Given the description of an element on the screen output the (x, y) to click on. 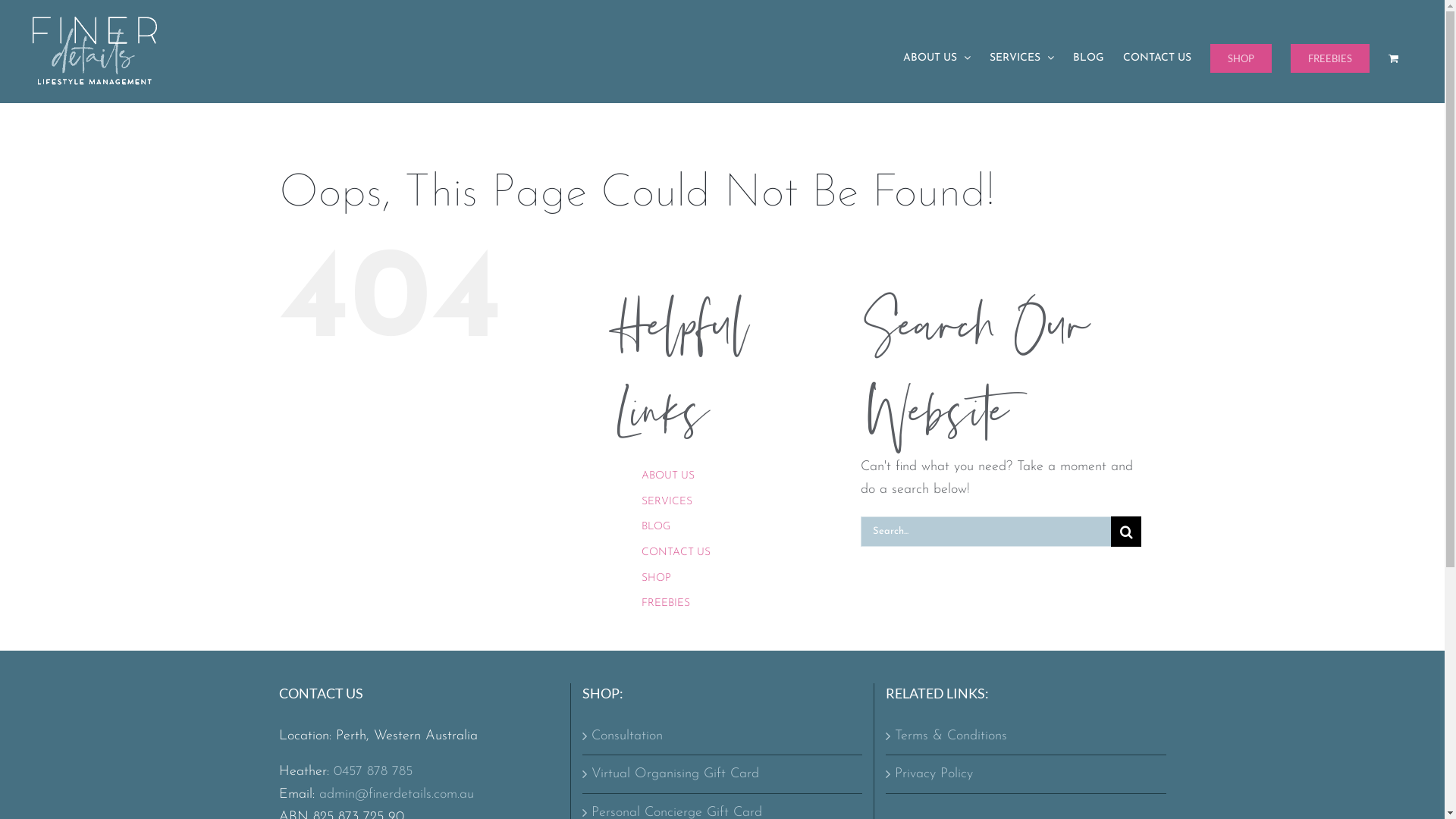
Consultation Element type: text (722, 735)
ABOUT US Element type: text (667, 475)
Privacy Policy Element type: text (1026, 773)
BLOG Element type: text (1088, 58)
Virtual Organising Gift Card Element type: text (722, 773)
admin@finerdetails.com.au Element type: text (395, 794)
FREEBIES Element type: text (665, 602)
FREEBIES Element type: text (1329, 58)
CONTACT US Element type: text (1157, 58)
SERVICES Element type: text (1021, 58)
Terms & Conditions Element type: text (1026, 735)
0457 878 785 Element type: text (372, 771)
SERVICES Element type: text (666, 501)
SHOP Element type: text (656, 577)
ABOUT US Element type: text (936, 58)
BLOG Element type: text (655, 526)
SHOP Element type: text (1240, 58)
CONTACT US Element type: text (675, 552)
